Given the description of an element on the screen output the (x, y) to click on. 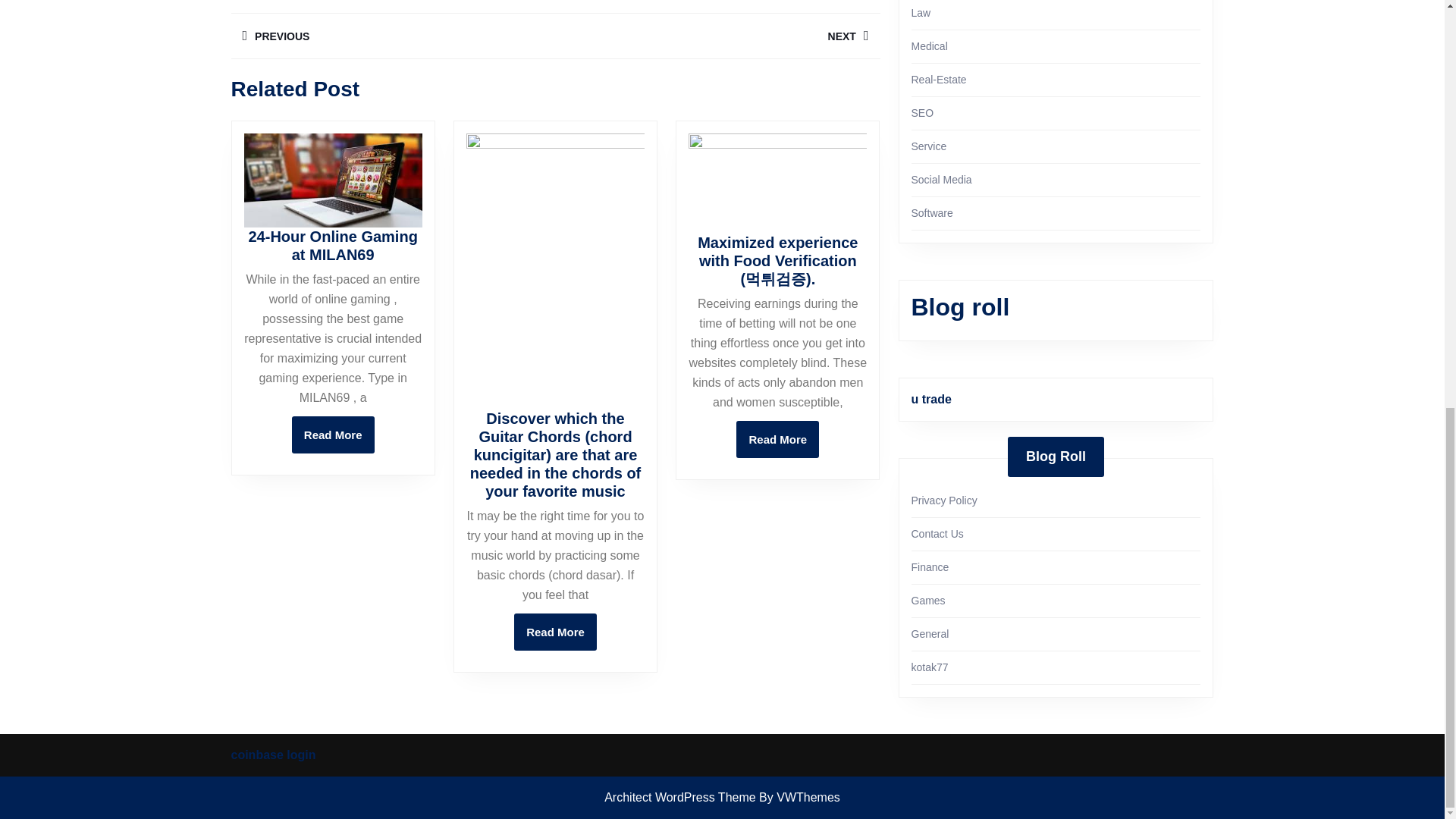
Law (392, 35)
